Given the description of an element on the screen output the (x, y) to click on. 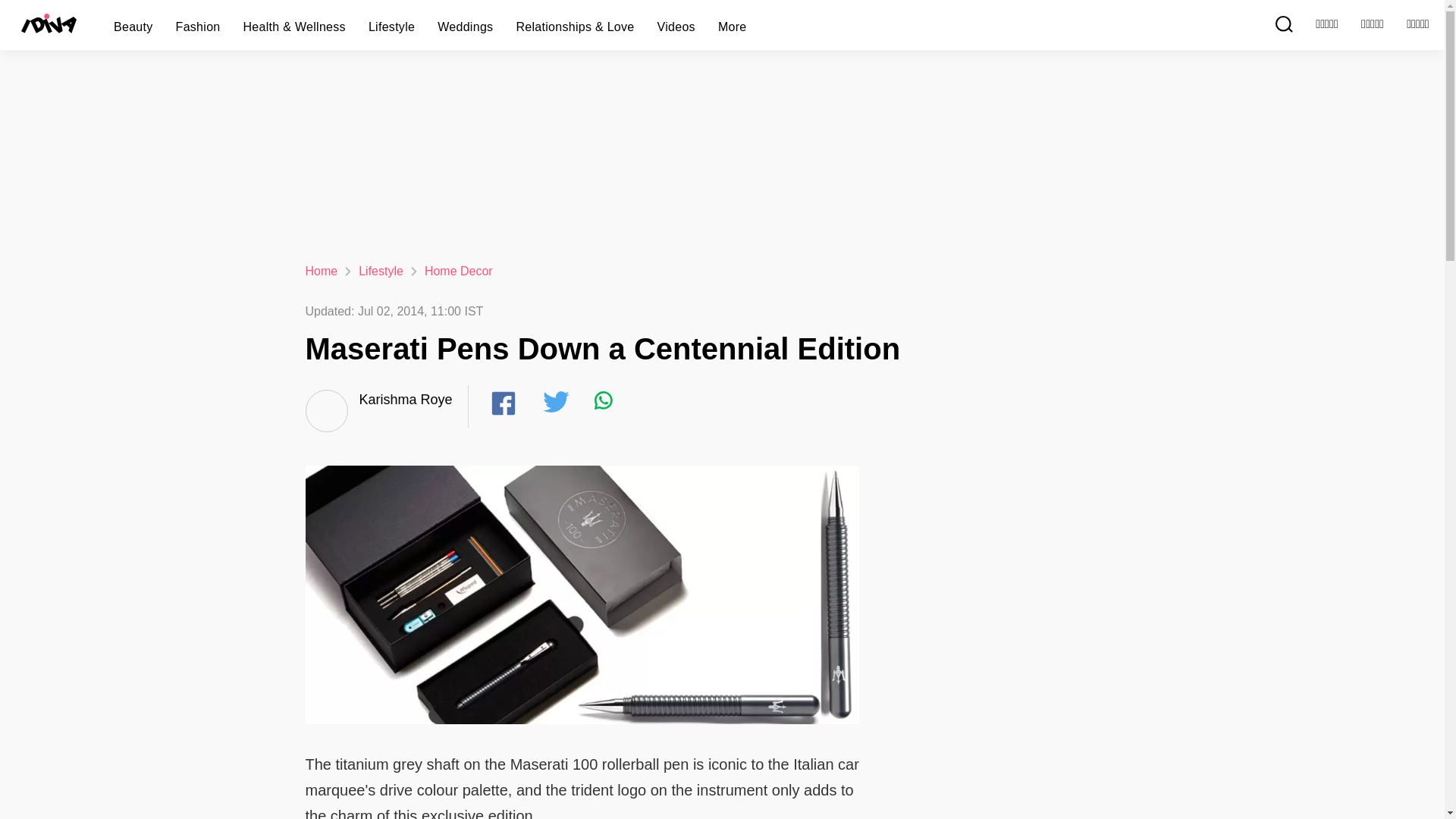
Home (320, 270)
Home Decor (459, 270)
Lifestyle (380, 270)
